Given the description of an element on the screen output the (x, y) to click on. 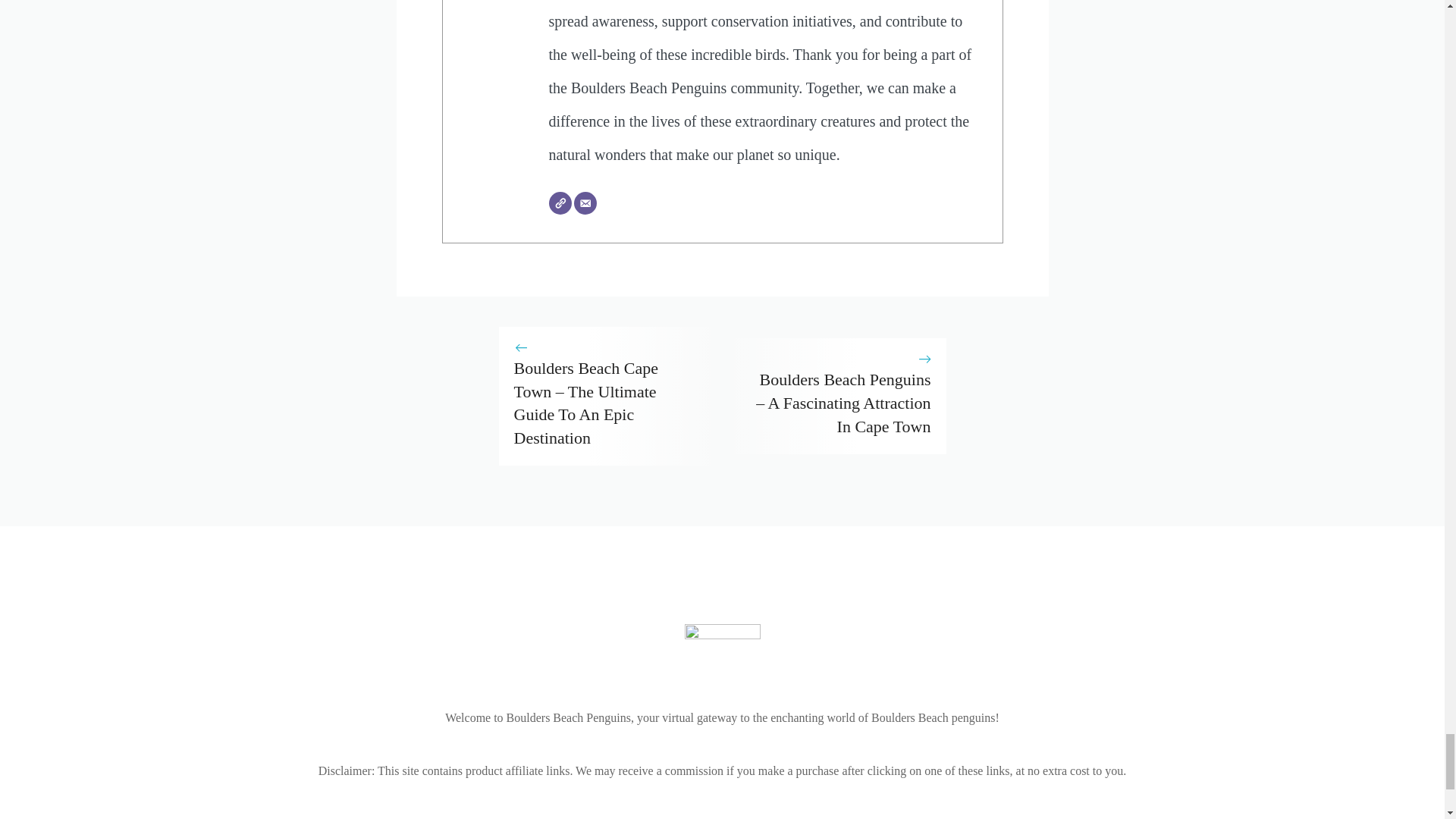
boulders-beach-penguins-ico (722, 654)
